Given the description of an element on the screen output the (x, y) to click on. 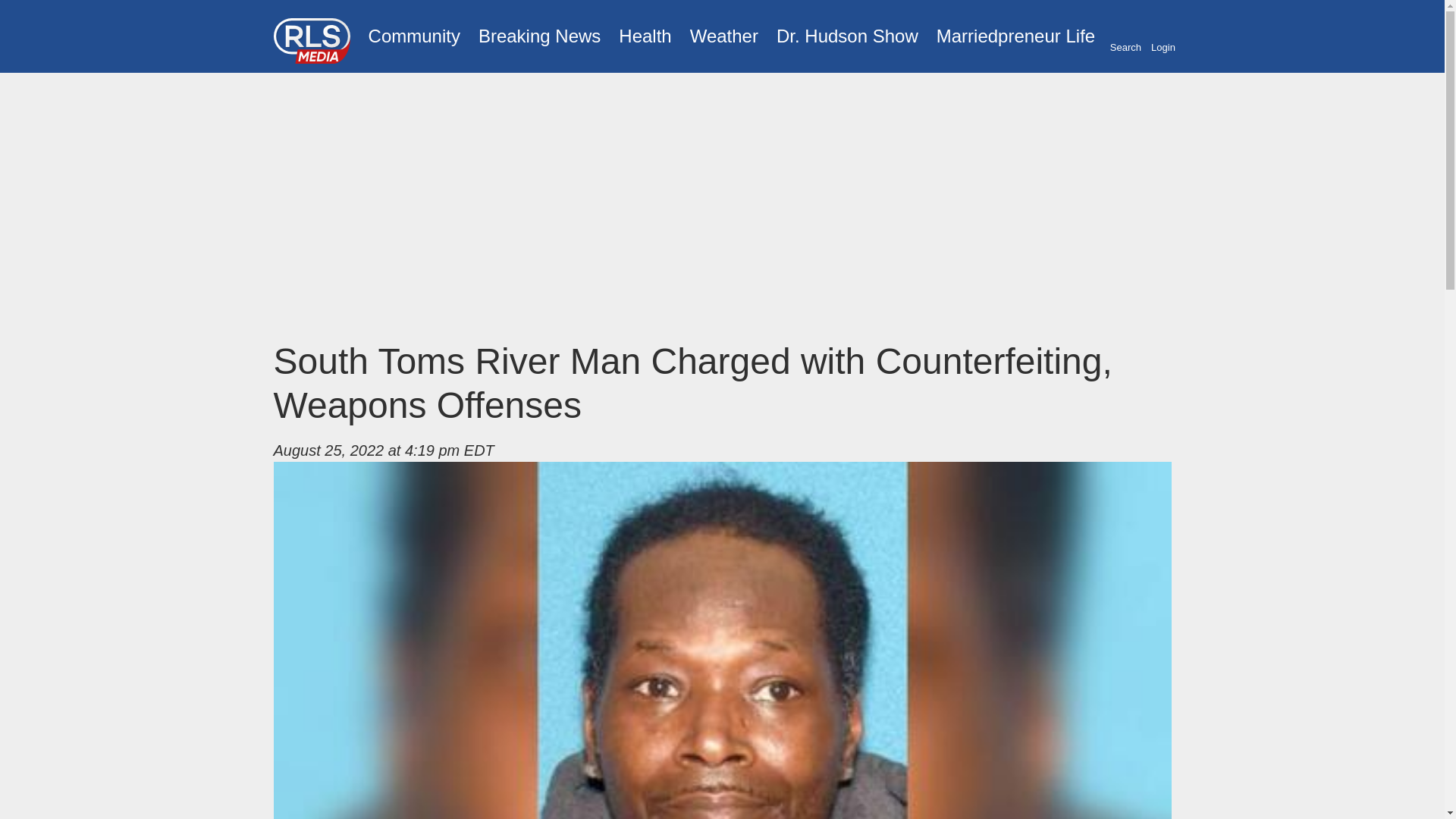
Local Weather (724, 36)
Dr. Hudson Show (847, 36)
Breaking News (539, 36)
Community News (413, 36)
Health (644, 36)
Search (1125, 37)
Community (413, 36)
Marriedpreneur Life (1015, 36)
Weather (724, 36)
Flying on Broken Dreams (847, 36)
Health News (644, 36)
